Given the description of an element on the screen output the (x, y) to click on. 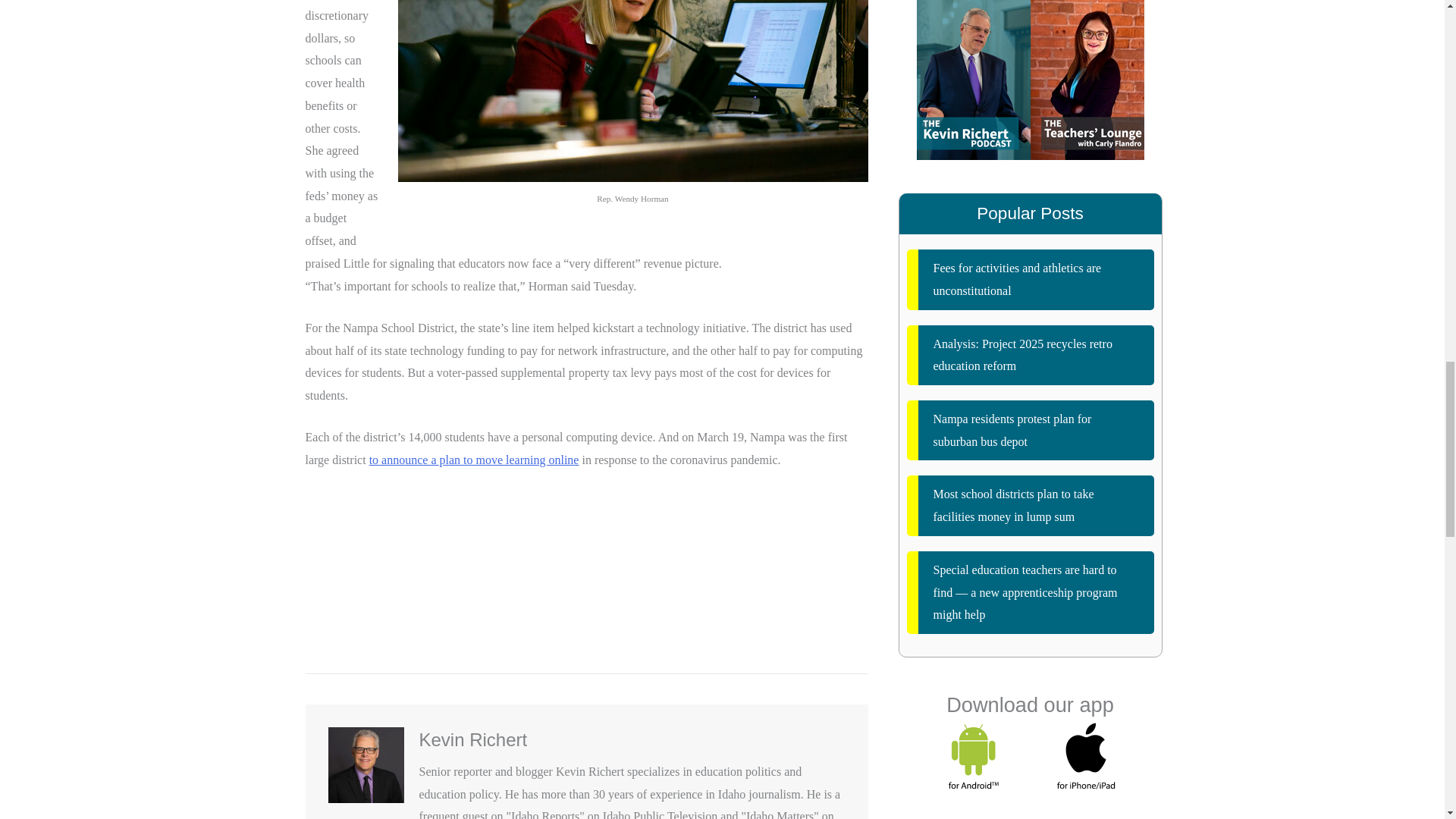
Nampa residents protest plan for suburban bus depot (1030, 430)
to announce a plan to move learning online (474, 459)
Fees for activities and athletics are unconstitutional (1030, 279)
Analysis: Project 2025 recycles retro education reform (1030, 354)
